Given the description of an element on the screen output the (x, y) to click on. 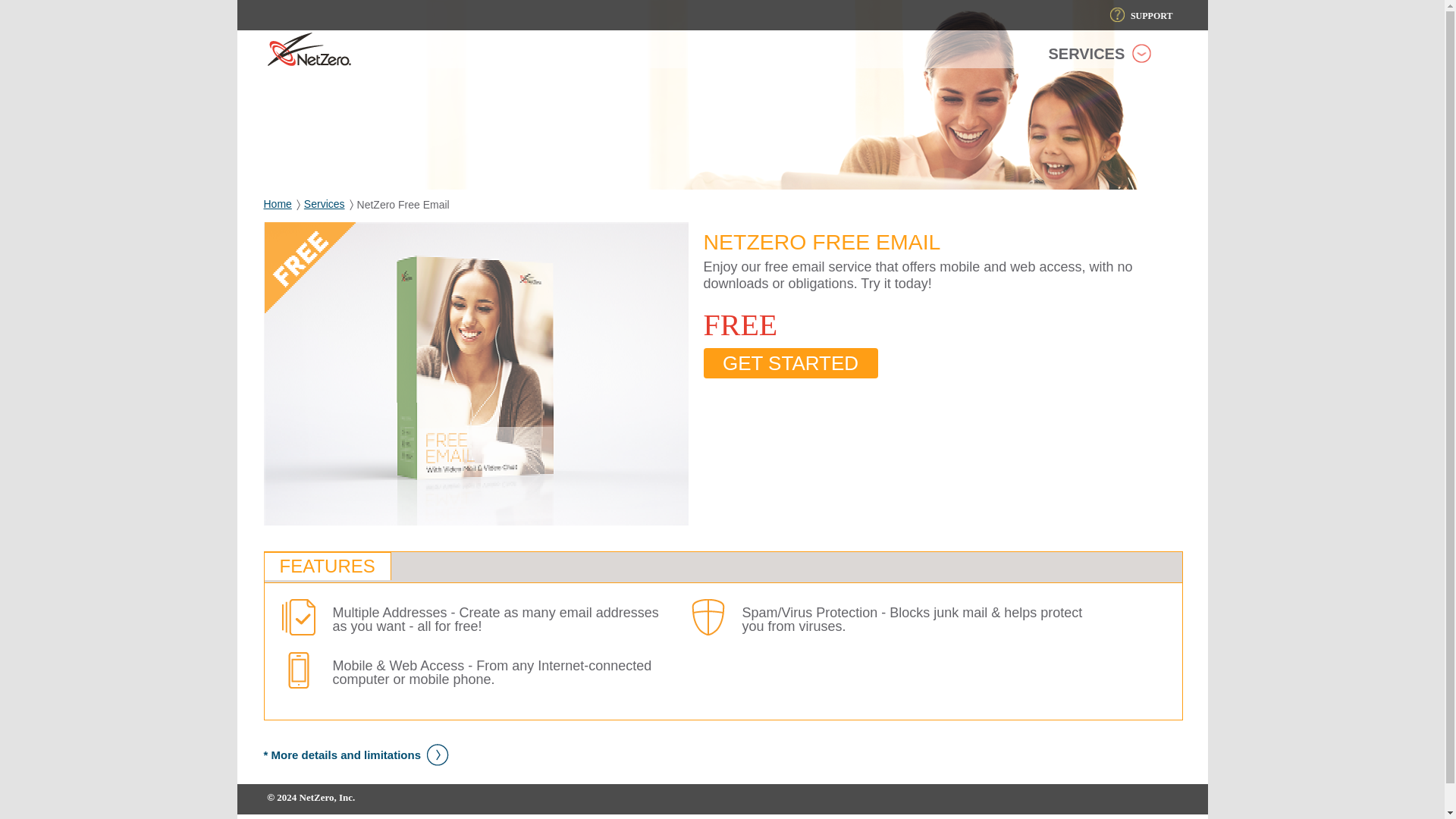
SERVICES (1099, 57)
Home (277, 203)
FEATURES (326, 566)
Services (324, 203)
GET STARTED (790, 363)
